Given the description of an element on the screen output the (x, y) to click on. 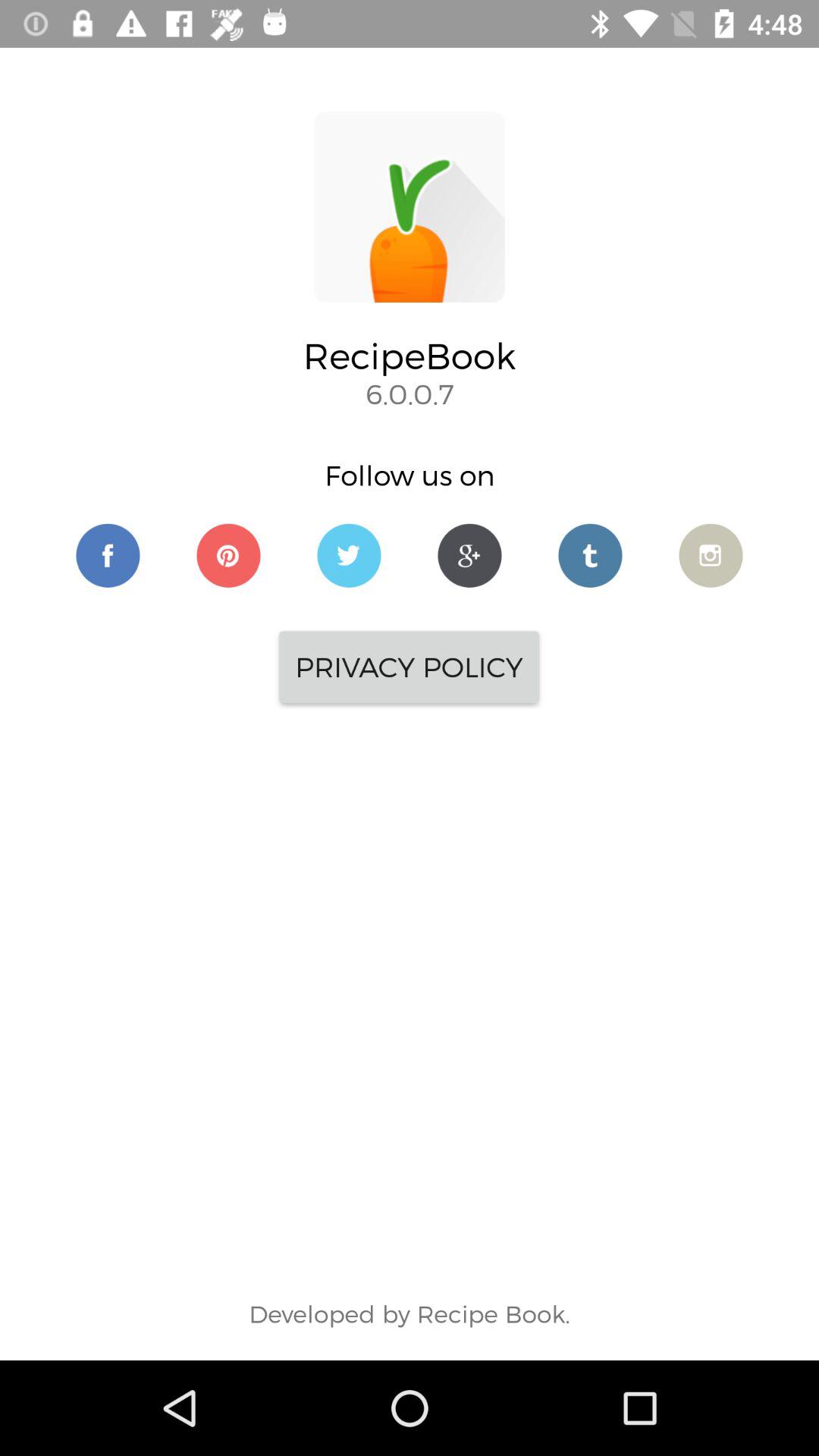
a place to access instagram (710, 555)
